Given the description of an element on the screen output the (x, y) to click on. 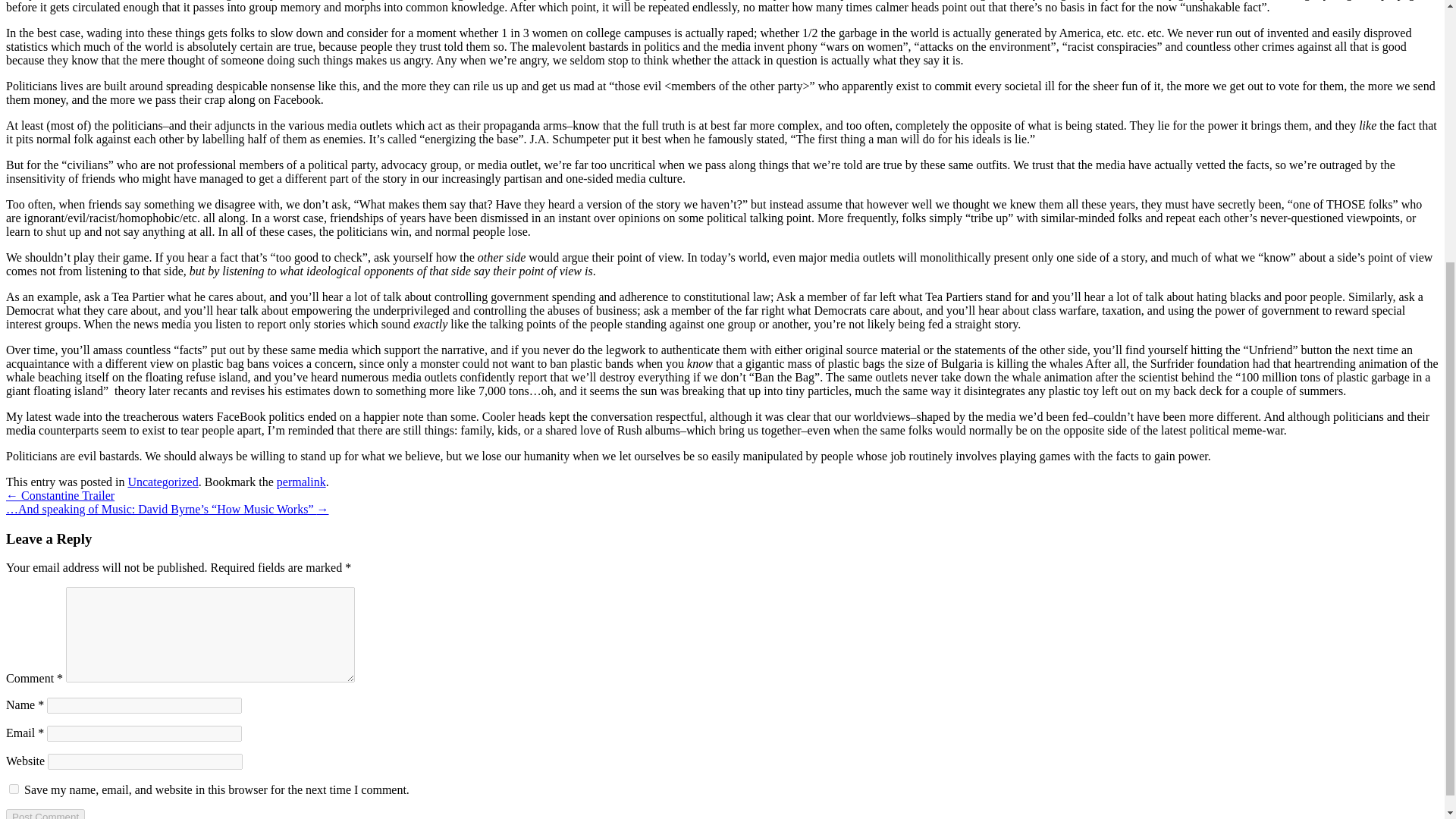
yes (13, 788)
Uncategorized (163, 481)
permalink (301, 481)
